Given the description of an element on the screen output the (x, y) to click on. 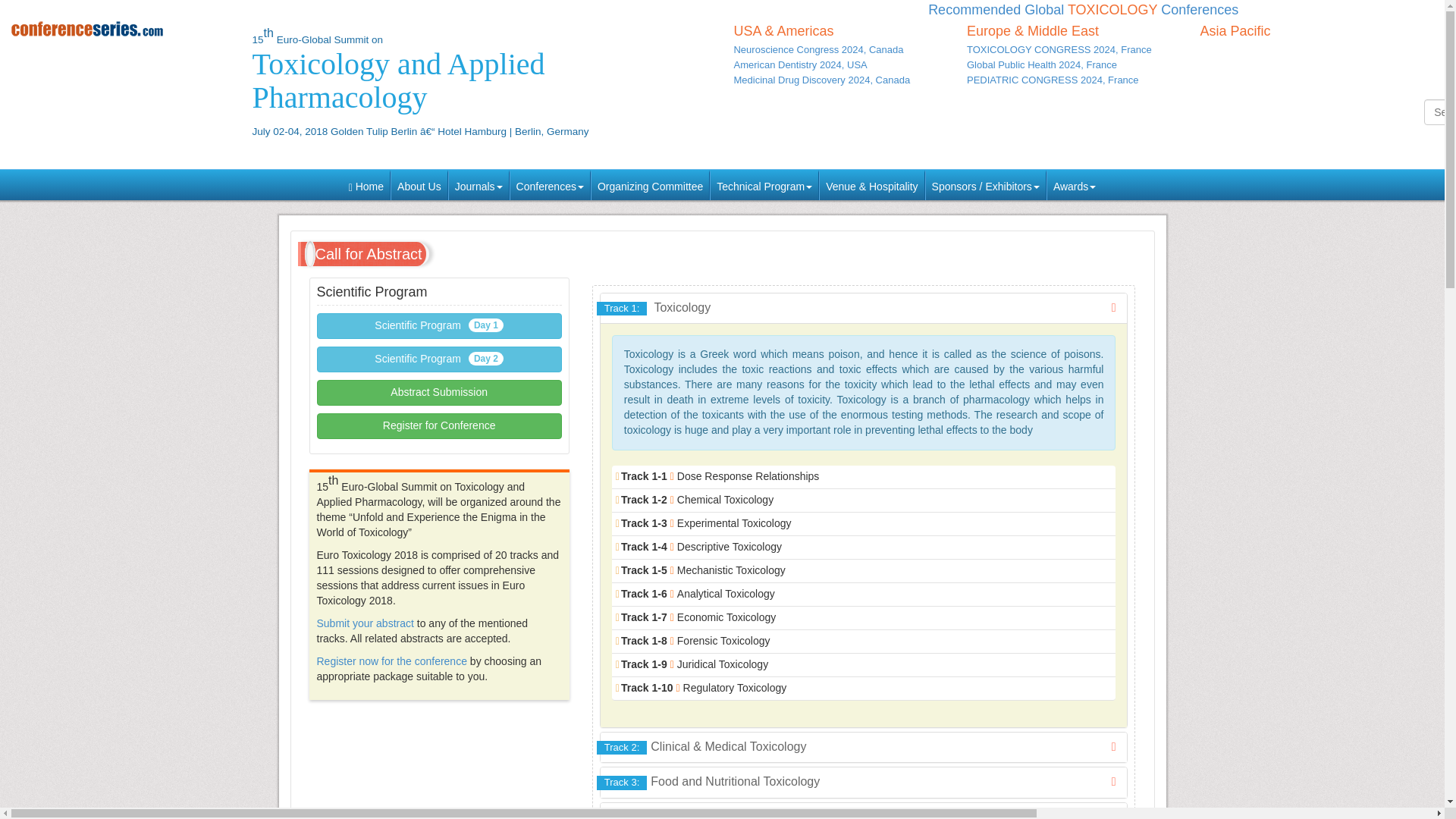
TOXICOLOGY CONGRESS 2024, France (1058, 49)
About Us (419, 184)
Journals (478, 184)
Neuroscience Congress 2024, Canada (817, 49)
Organizing Committee (650, 184)
Home (120, 28)
Global Public Health 2024, France (1041, 64)
Medicinal Drug Discovery 2024, Canada (821, 79)
Explore Our Journals (478, 184)
Explore Our Conferences (550, 184)
About Us (419, 184)
TOXICOLOGY CONGRESS 2024, France (1058, 49)
Home (366, 184)
PEDIATRIC CONGRESS 2024, France (1052, 79)
PEDIATRIC CONGRESS 2024, France (1052, 79)
